Given the description of an element on the screen output the (x, y) to click on. 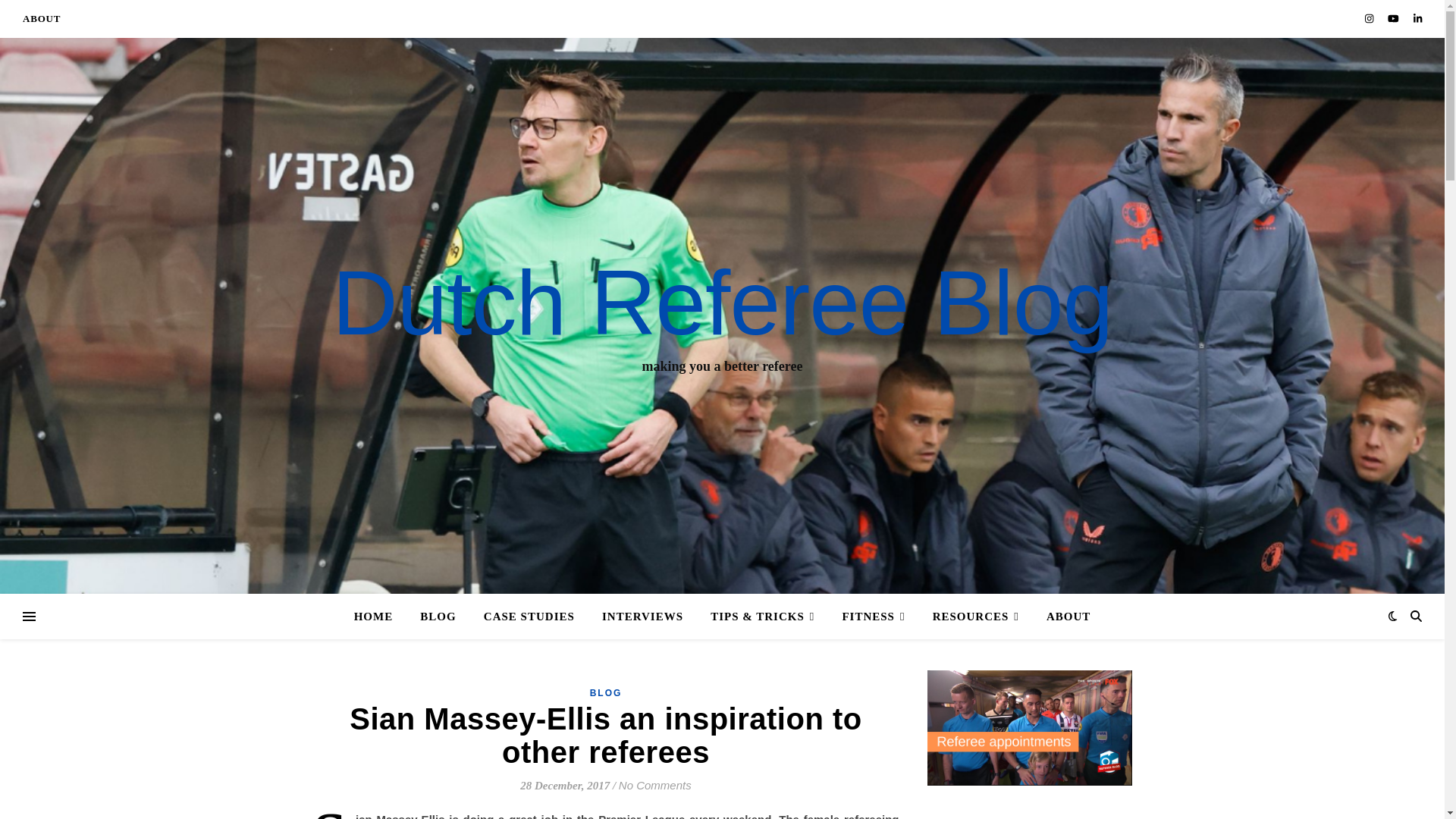
INTERVIEWS (642, 616)
HOME (379, 616)
CASE STUDIES (528, 616)
ABOUT (42, 18)
BLOG (437, 616)
Dutch Referee Blog (721, 302)
FITNESS (873, 616)
RESOURCES (975, 616)
ABOUT (1061, 616)
